Given the description of an element on the screen output the (x, y) to click on. 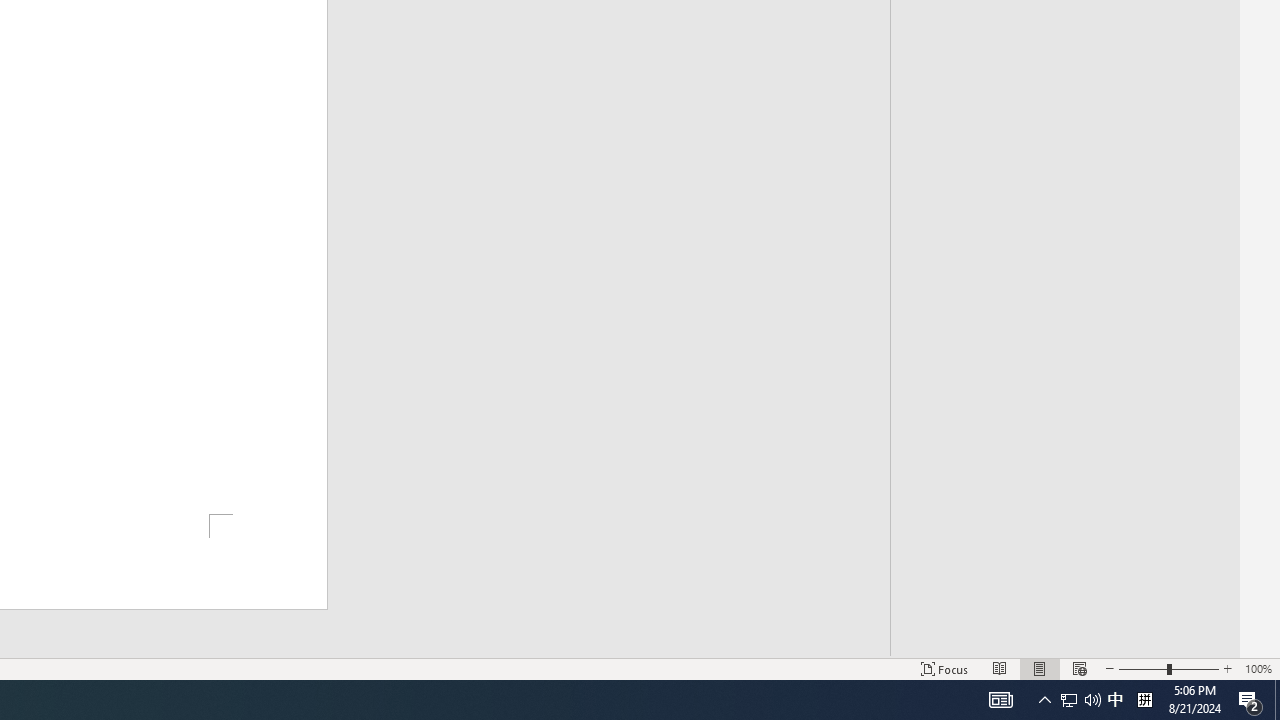
Zoom In (1227, 668)
Zoom Out (1142, 668)
Zoom (1168, 668)
Web Layout (1079, 668)
Read Mode (1000, 668)
Focus  (944, 668)
Print Layout (1039, 668)
Zoom 100% (1258, 668)
